Given the description of an element on the screen output the (x, y) to click on. 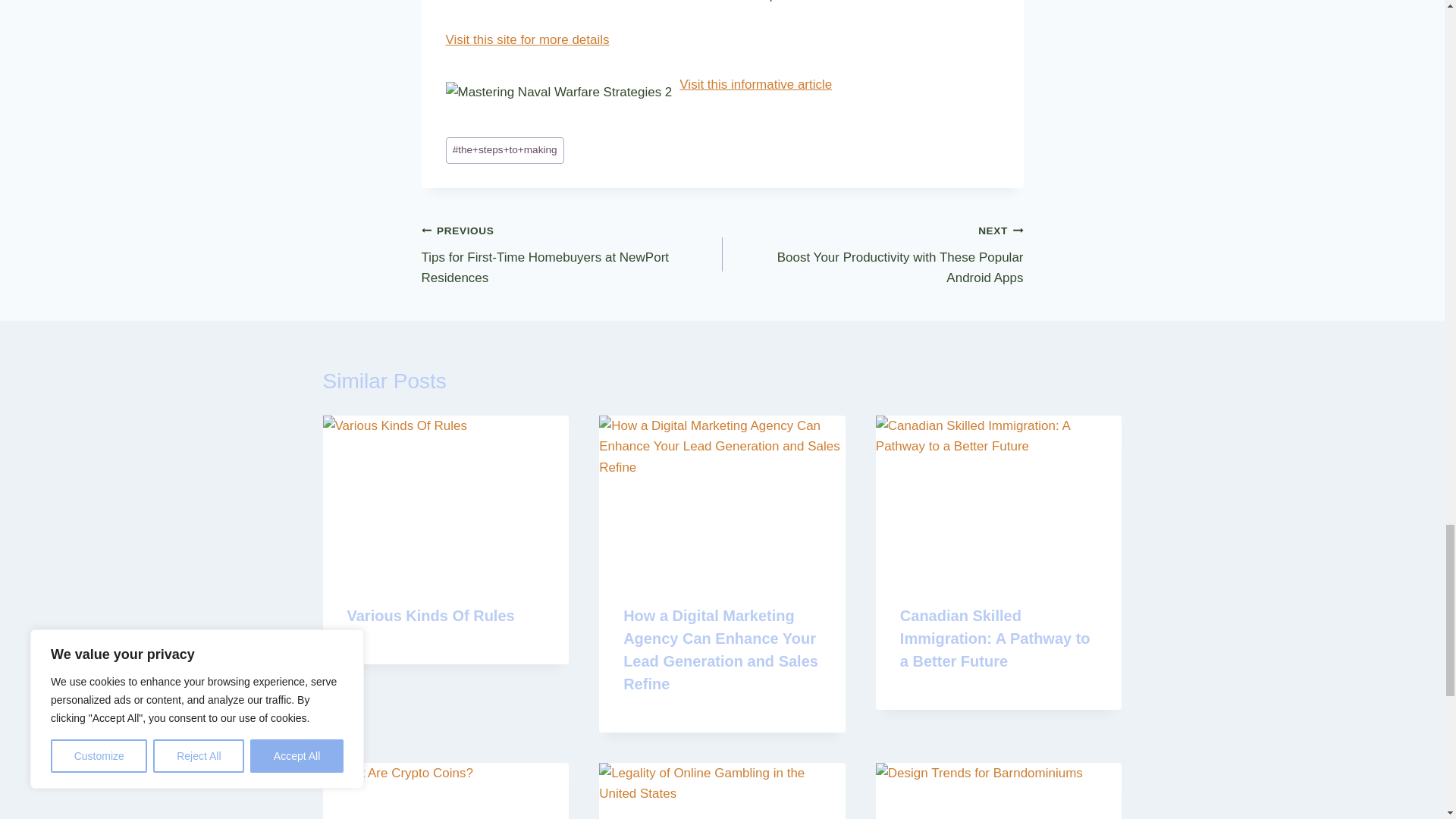
Various Kinds Of Rules (431, 615)
Visit this informative article (755, 83)
Visit this site for more details (872, 254)
